Given the description of an element on the screen output the (x, y) to click on. 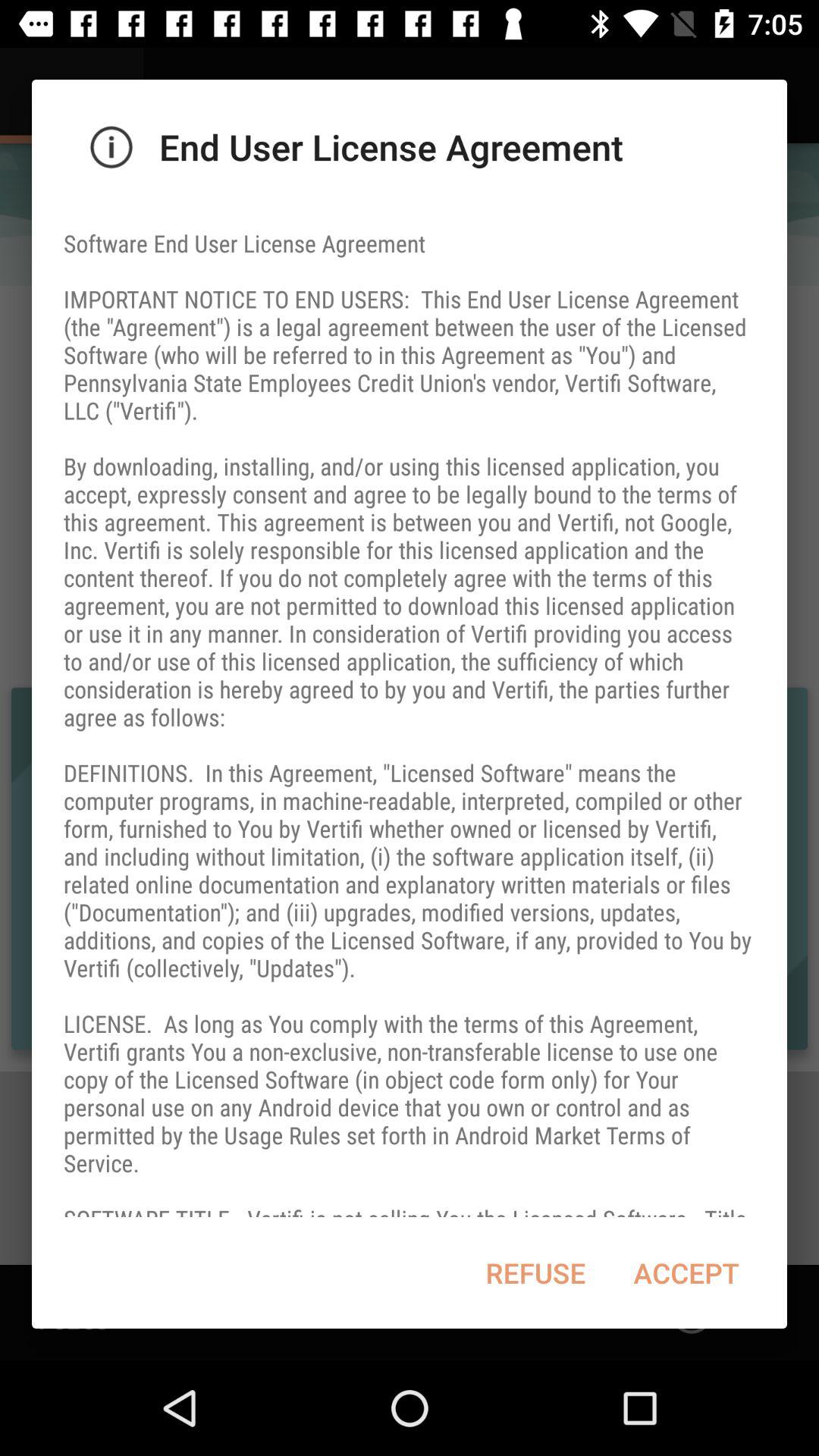
open item to the left of accept item (535, 1272)
